Given the description of an element on the screen output the (x, y) to click on. 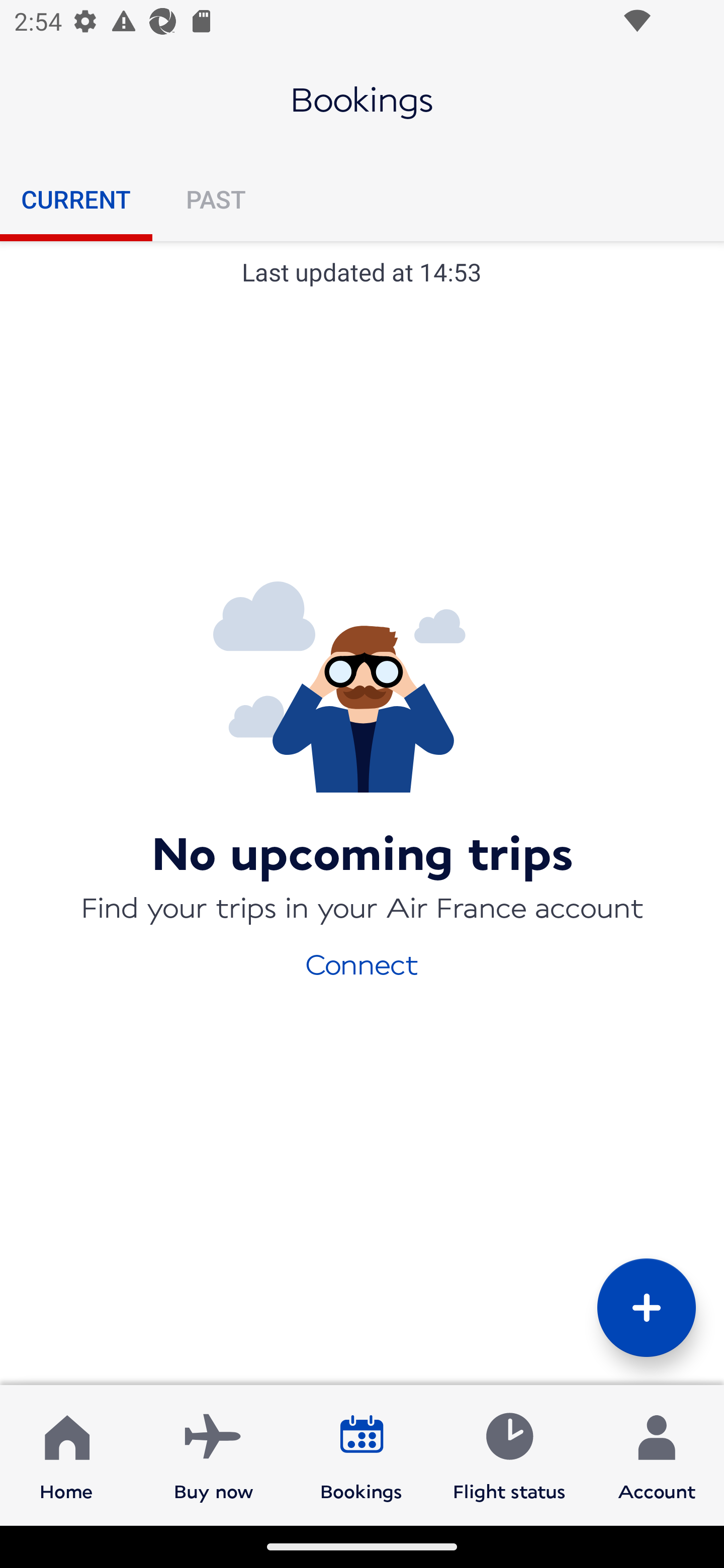
PAST (215, 198)
Connect (361, 963)
Home (66, 1454)
Buy now (213, 1454)
Flight status (509, 1454)
Account (657, 1454)
